Given the description of an element on the screen output the (x, y) to click on. 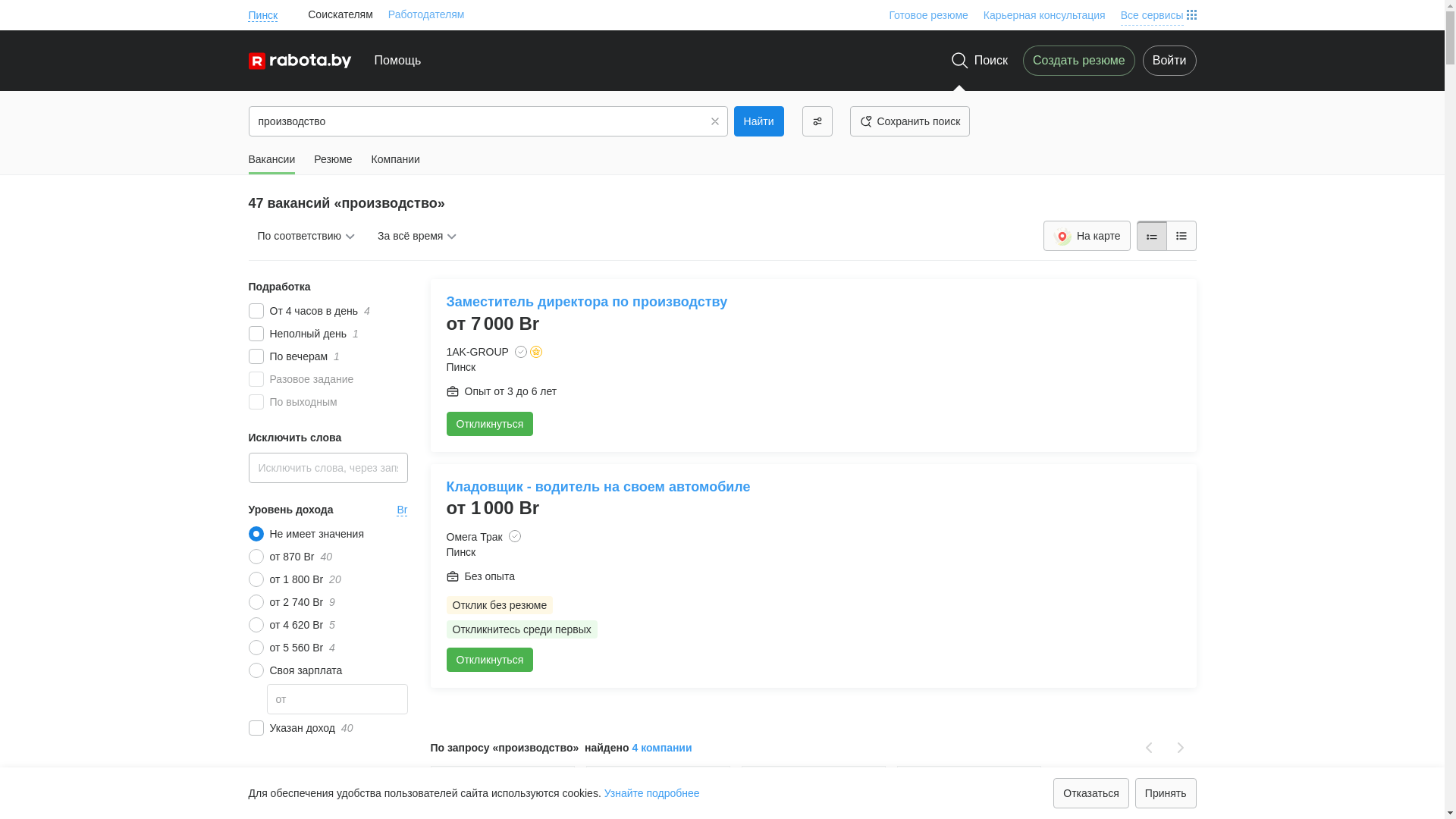
Br Element type: text (402, 509)
1AK-GROUP Element type: text (476, 351)
Clear Element type: hover (715, 121)
